Given the description of an element on the screen output the (x, y) to click on. 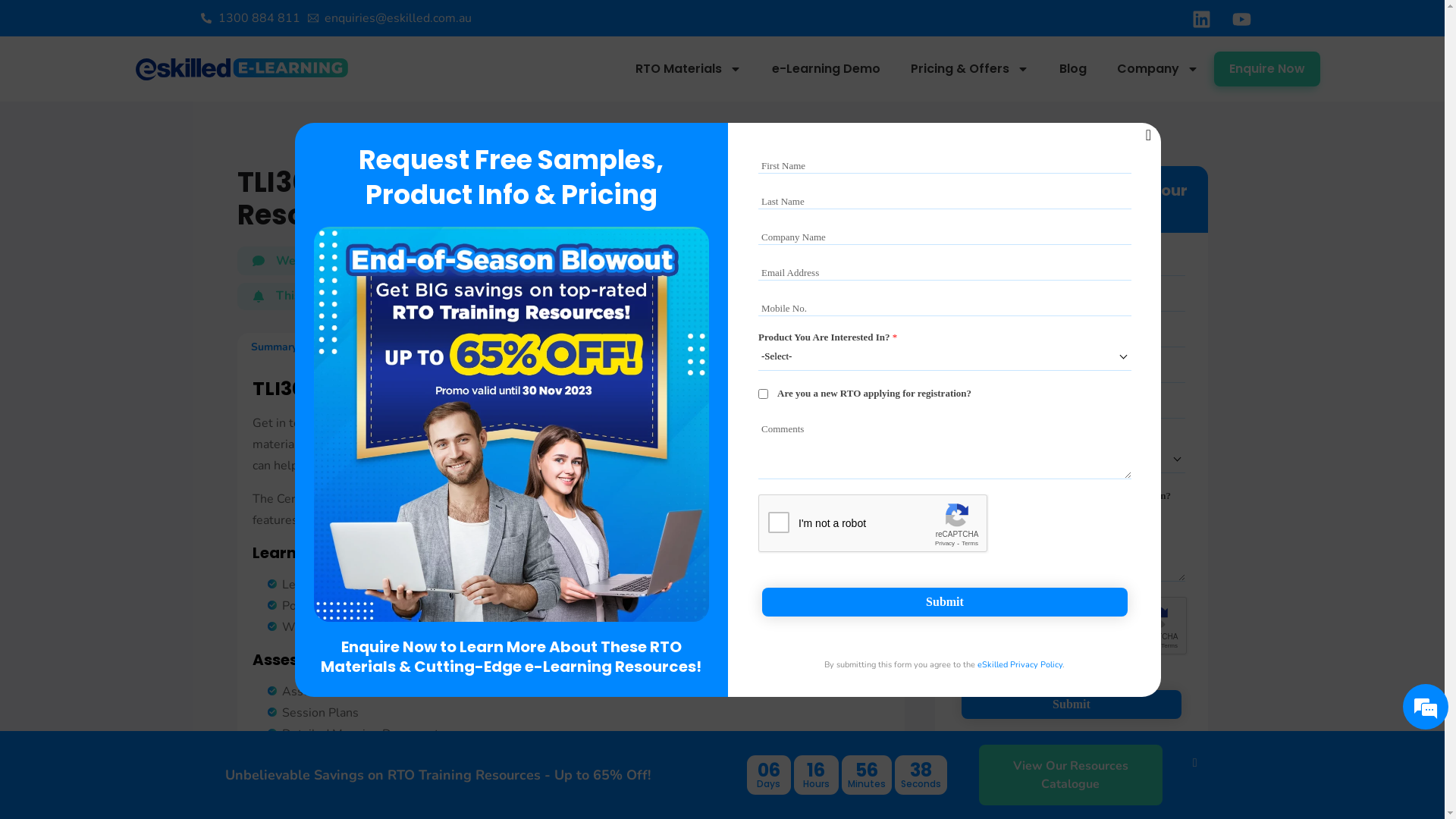
e-Learning Demo Element type: text (825, 68)
eSkilled Privacy Policy Element type: text (1019, 663)
Blog Element type: text (1072, 68)
Learner Resources Element type: text (375, 346)
Assessment Tools Element type: text (497, 346)
Pricing & Offers Element type: text (969, 68)
Enquire Now Element type: text (1267, 68)
Publisher Element type: text (597, 346)
eSkilled Privacy Policy Element type: text (1147, 765)
Summary Element type: text (274, 346)
1300 884 811 Element type: text (250, 17)
Company Element type: text (1157, 68)
View Our Resources Catalogue Element type: text (1069, 774)
enquiries@eskilled.com.au Element type: text (389, 17)
RTO Materials Element type: text (688, 68)
